Given the description of an element on the screen output the (x, y) to click on. 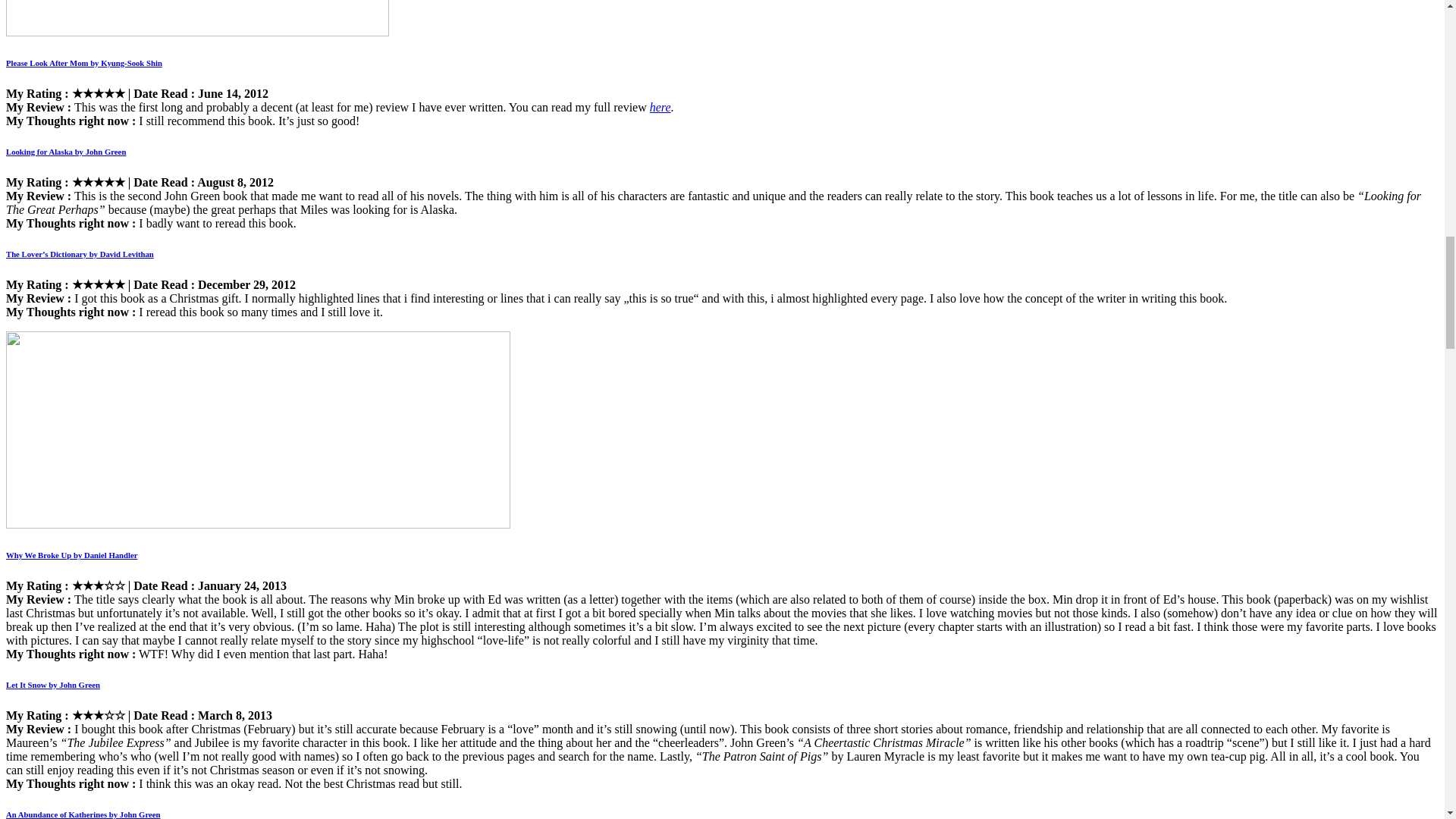
Please Look After Mom by Kyung-Sook Shin (83, 62)
An Abundance of Katherines by John Green (82, 814)
Why We Broke Up by Daniel Handler (71, 554)
Looking for Alaska by John Green (65, 151)
here (660, 106)
Let It Snow by John Green (52, 684)
